Given the description of an element on the screen output the (x, y) to click on. 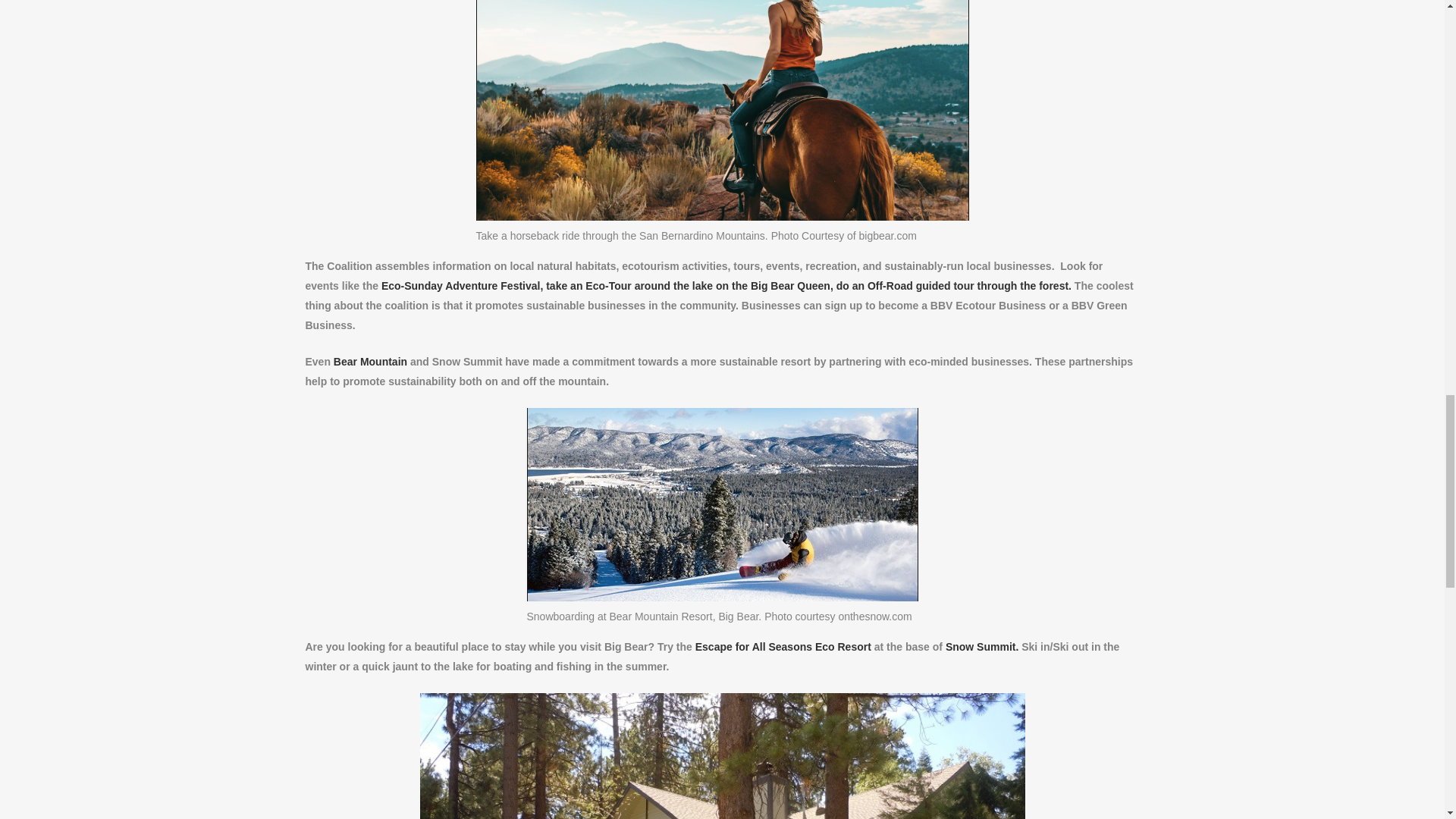
Escape for All Seasons Eco Resort (784, 646)
Bear Mountain (368, 361)
